Given the description of an element on the screen output the (x, y) to click on. 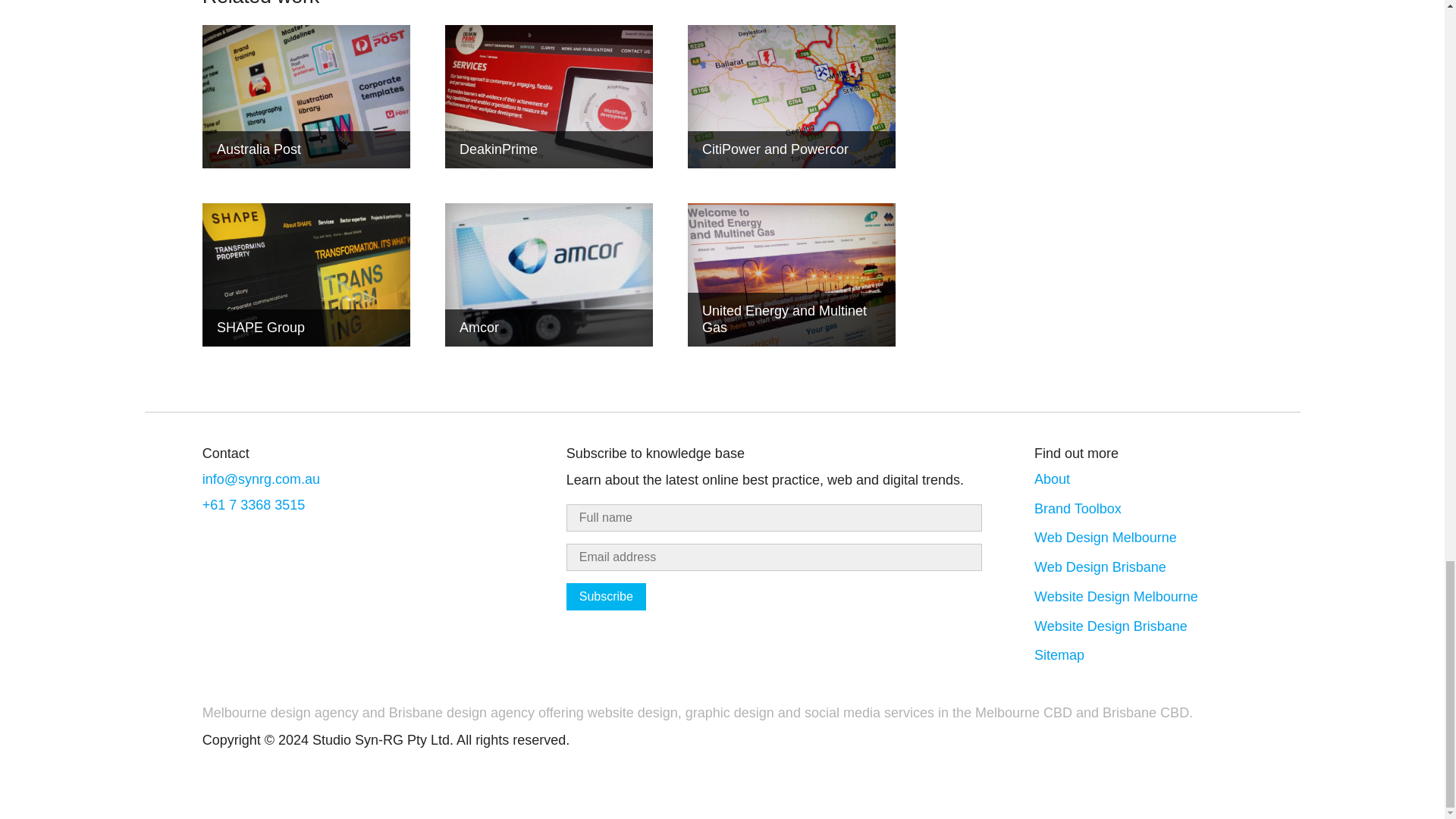
Web Design Melbourne (1104, 537)
Amcor (548, 274)
Brand Toolbox (1077, 508)
DeakinPrime (548, 96)
SHAPE Group (306, 274)
Website Design Brisbane (1110, 626)
Australia Post (306, 96)
Sitemap (1058, 654)
Australia Post (306, 96)
United Energy and Multinet Gas (791, 274)
About (1051, 478)
Subscribe (606, 596)
CitiPower and Powercor (791, 96)
Web Design Brisbane (1099, 566)
Website Design Melbourne (1115, 596)
